Given the description of an element on the screen output the (x, y) to click on. 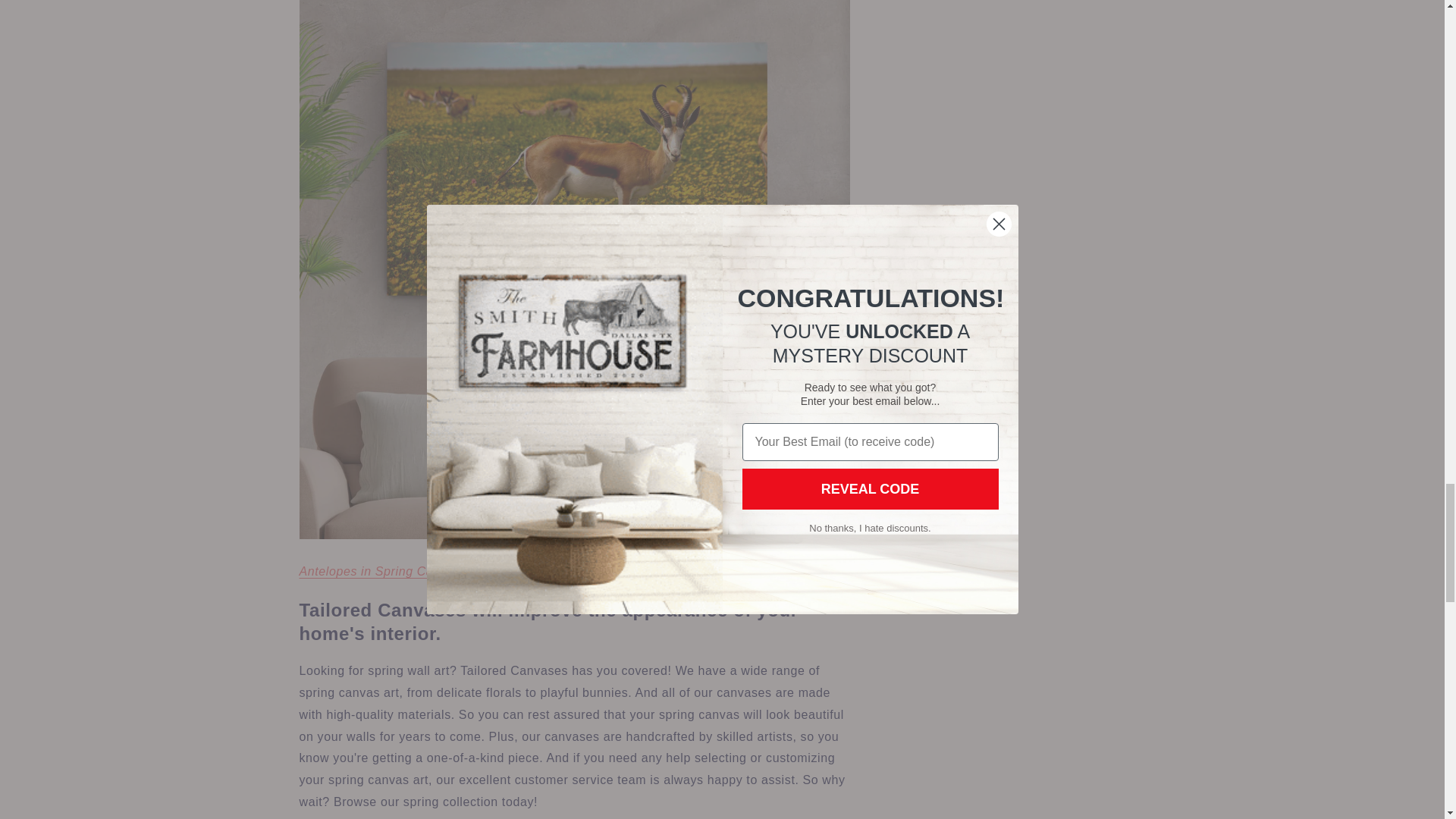
Antelopes in Spring Canvas Wall Art - by Tailored Canvases (430, 571)
